Given the description of an element on the screen output the (x, y) to click on. 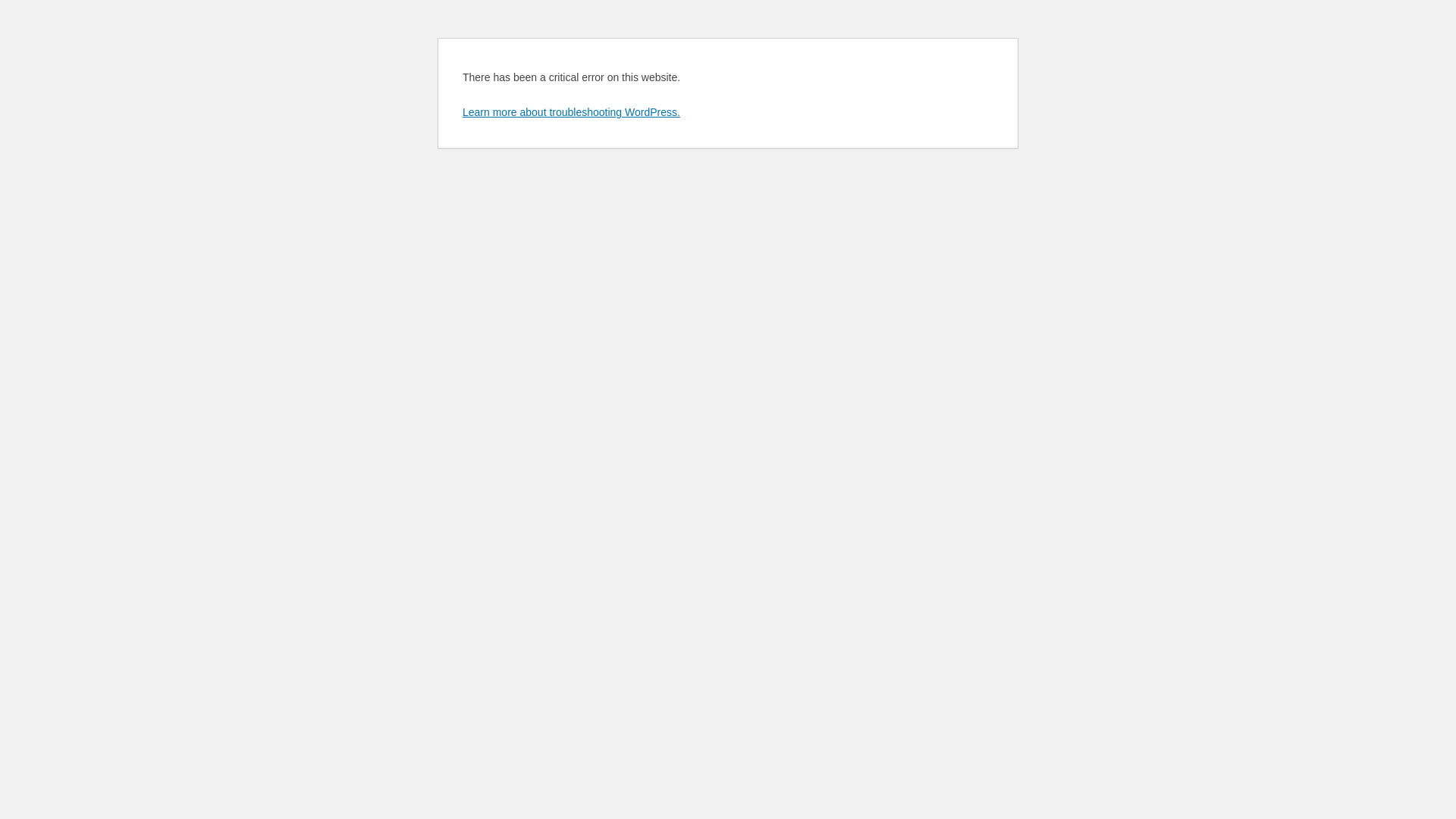
Learn more about troubleshooting WordPress. Element type: text (571, 112)
